Given the description of an element on the screen output the (x, y) to click on. 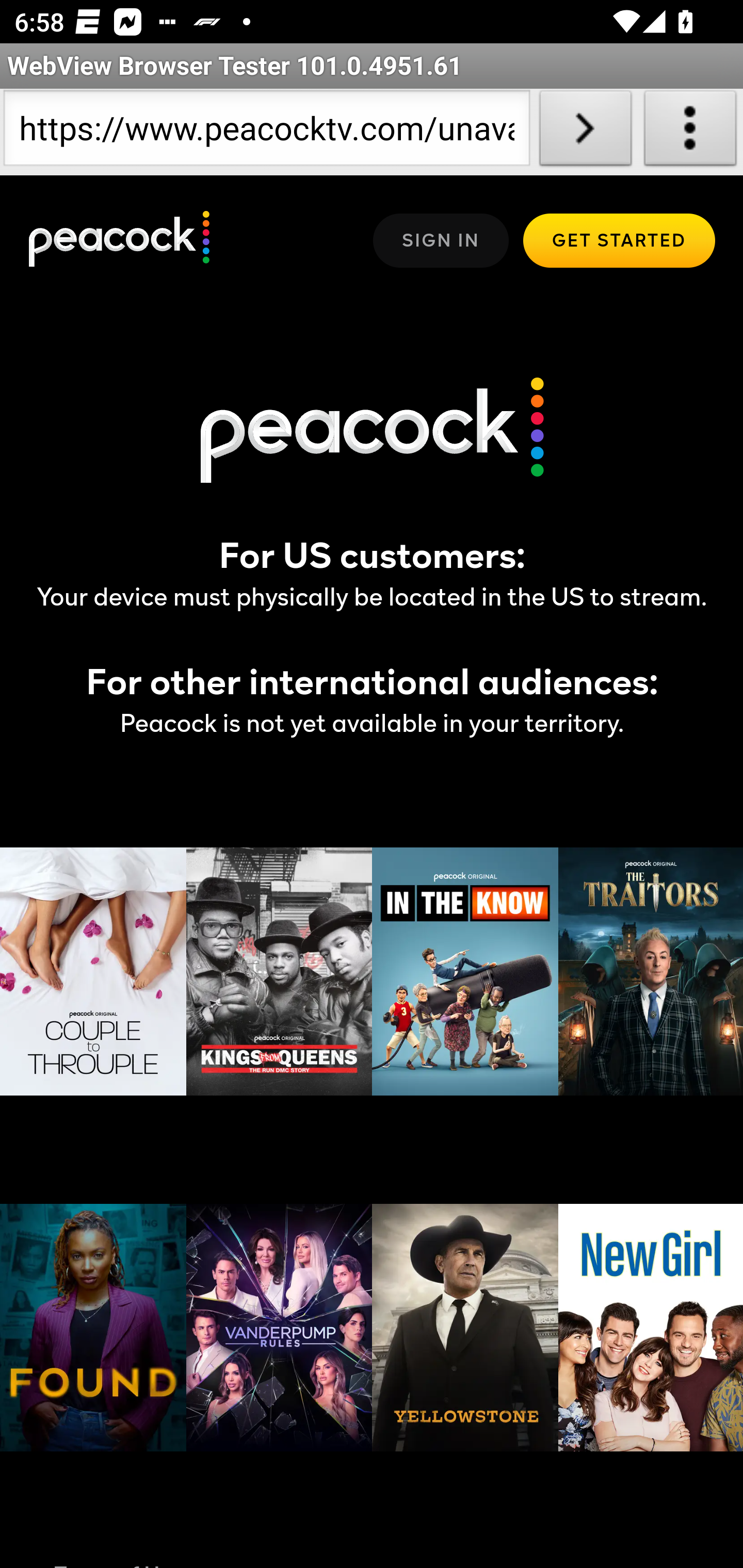
https://www.peacocktv.com/unavailable (266, 132)
Load URL (585, 132)
About WebView (690, 132)
www.peacocktv (119, 240)
Sign In (440, 240)
Get Started (618, 240)
Couple to Throuple (93, 971)
Kings from Queens: The RUN DMC Story (278, 971)
In the Know (465, 971)
The Traitors (649, 971)
Found (93, 1327)
Vanderpump Rules (278, 1327)
Yellowstone (465, 1327)
New Girl (649, 1327)
